Given the description of an element on the screen output the (x, y) to click on. 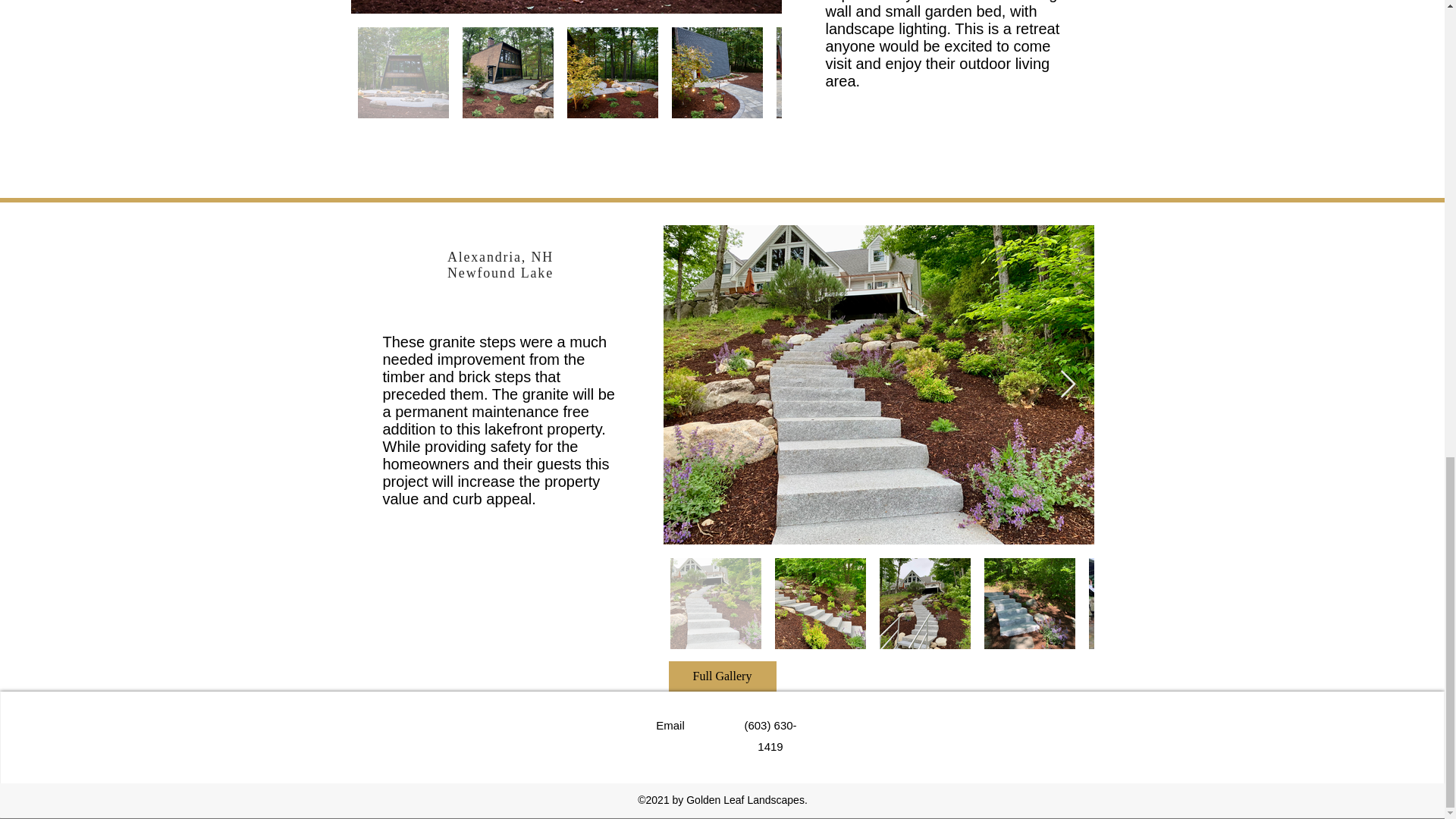
Email (670, 725)
Full Gallery (722, 675)
